Given the description of an element on the screen output the (x, y) to click on. 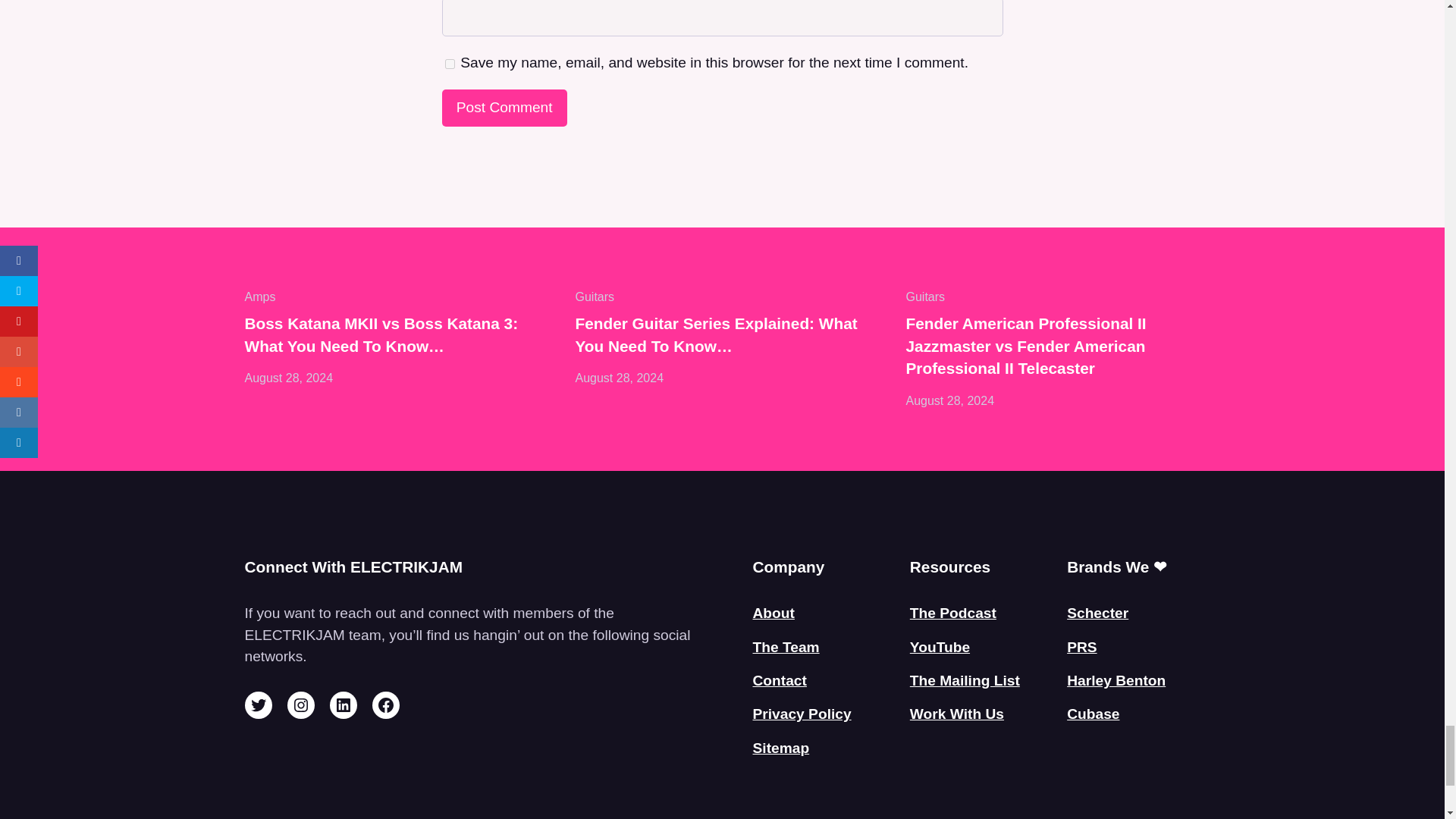
Amps (259, 296)
Post Comment (503, 107)
Post Comment (503, 107)
